Given the description of an element on the screen output the (x, y) to click on. 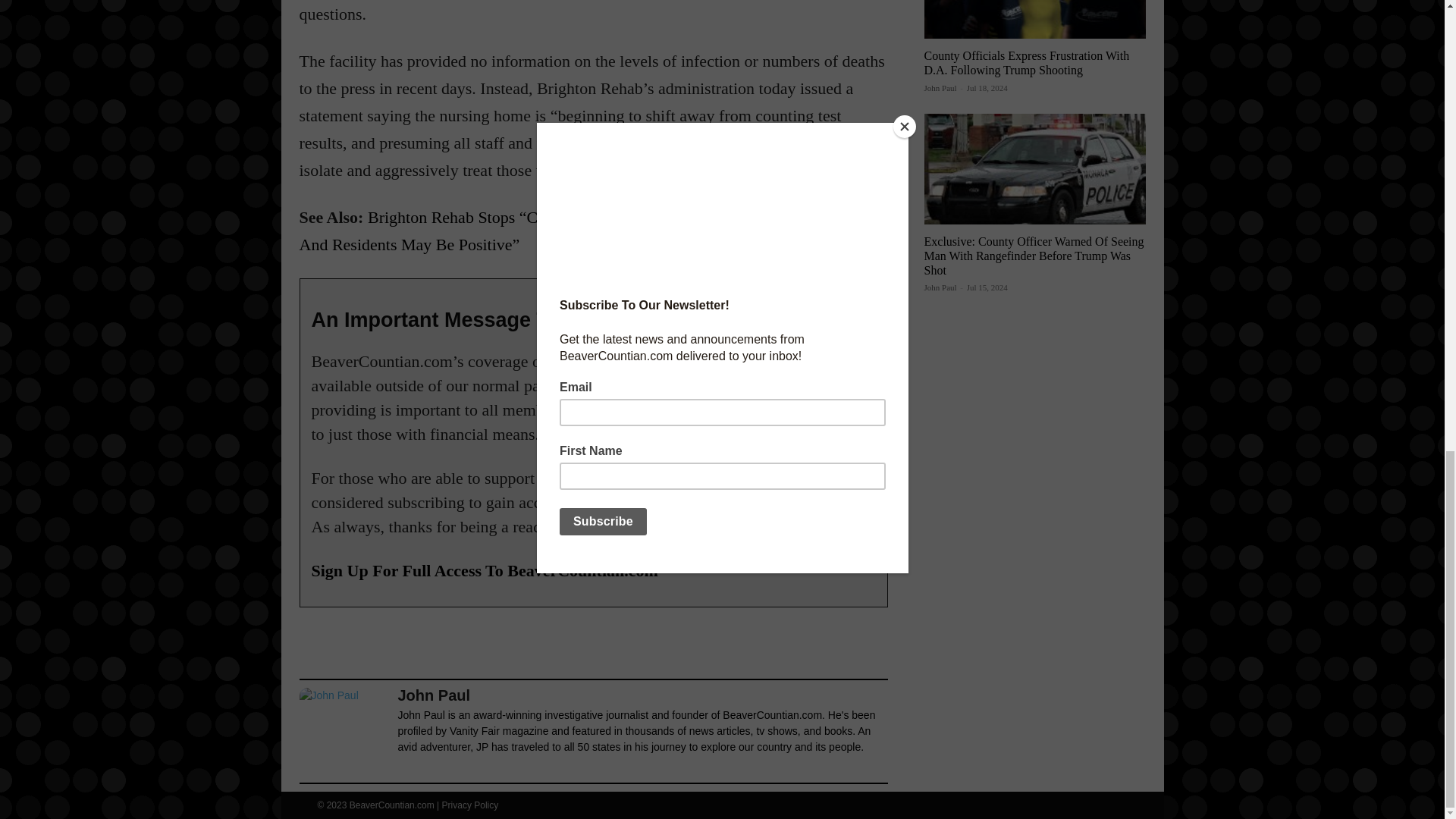
John Paul (939, 87)
Sign Up For Full Access To BeaverCountian.com (484, 570)
Privacy Policy (470, 805)
John Paul (641, 695)
John Paul (939, 286)
John Paul (344, 732)
